Given the description of an element on the screen output the (x, y) to click on. 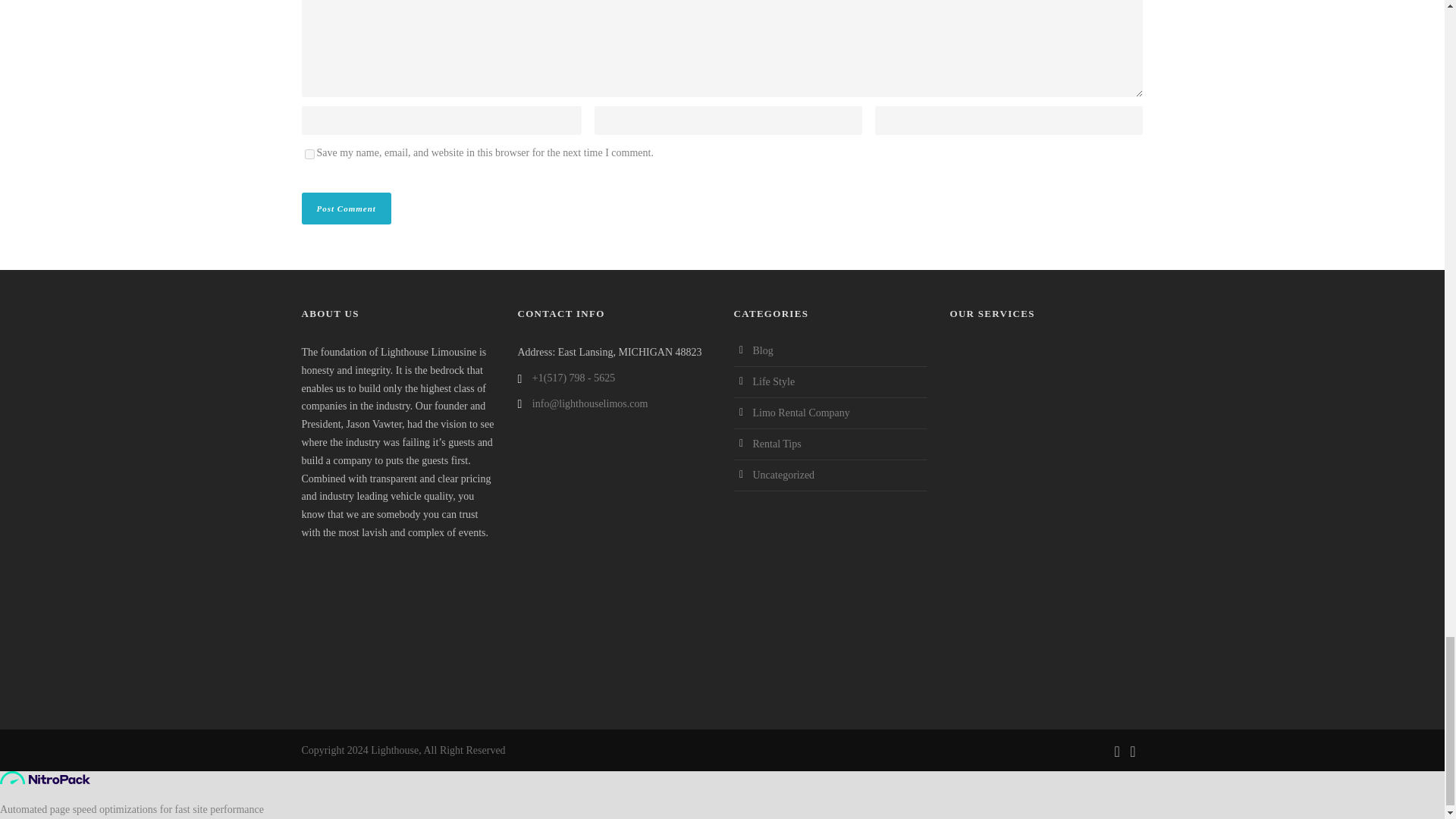
Post Comment (346, 208)
yes (309, 153)
